Given the description of an element on the screen output the (x, y) to click on. 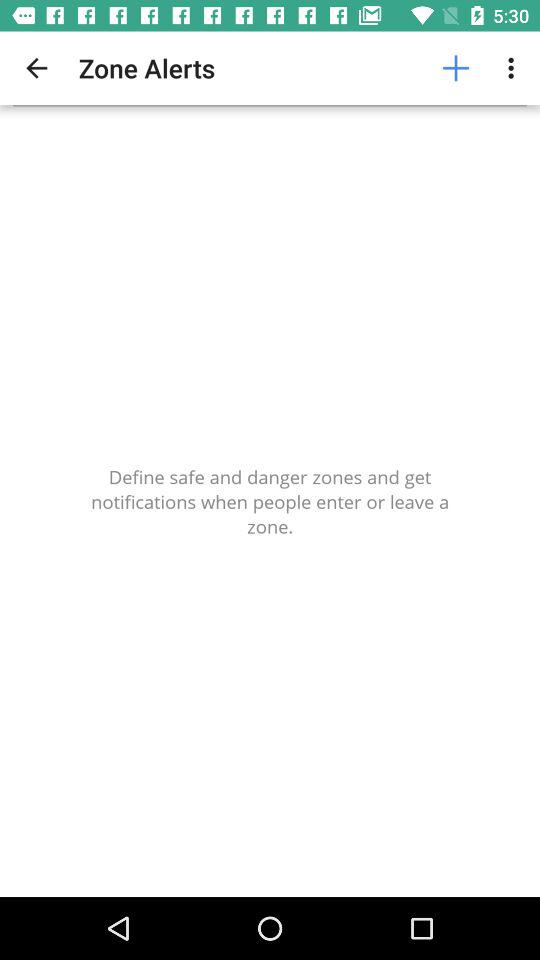
click the item next to the zone alerts item (455, 67)
